Given the description of an element on the screen output the (x, y) to click on. 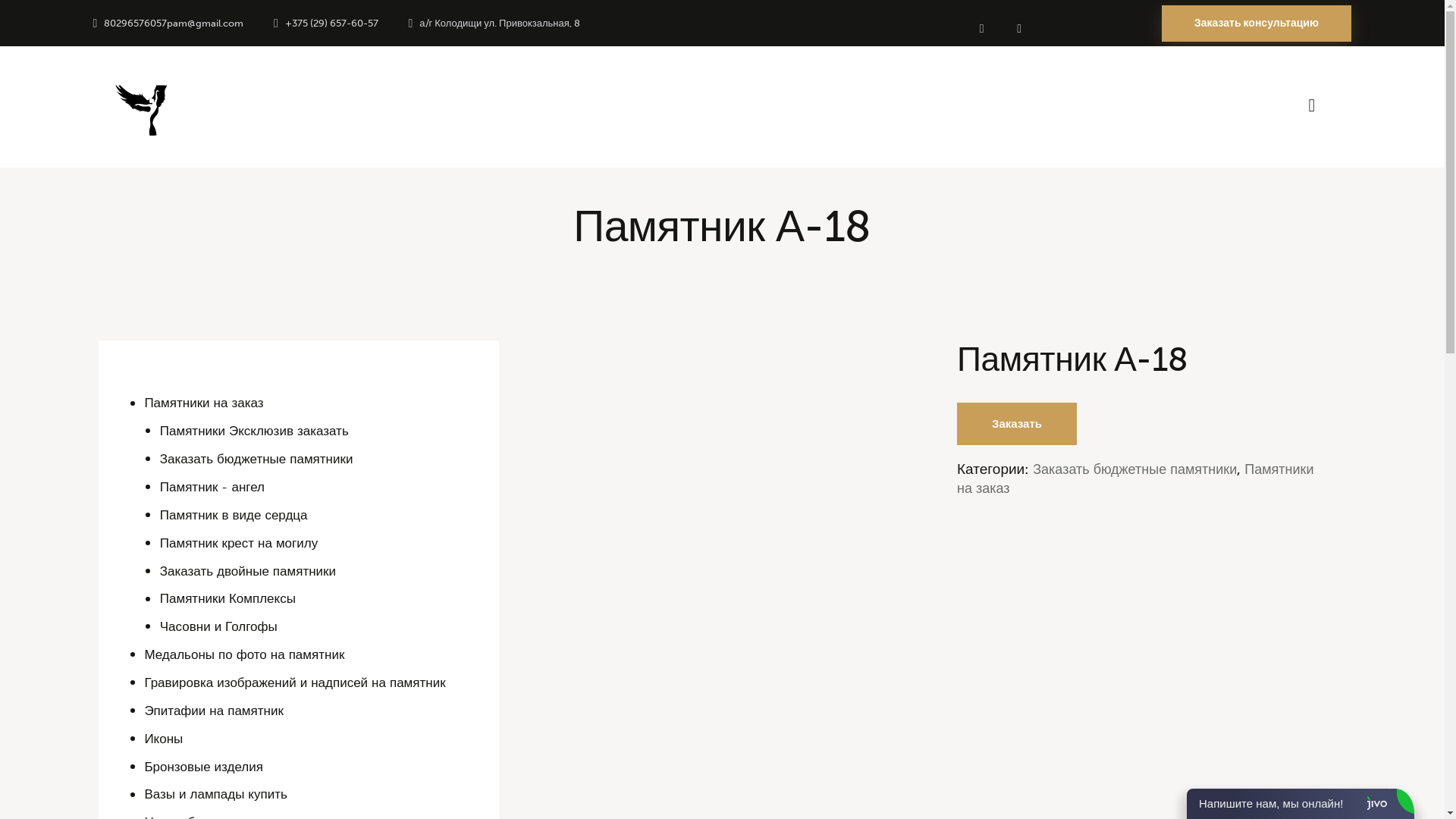
80296576057pam@gmail.com Element type: text (167, 22)
+375 (29) 657-60-57 Element type: text (325, 22)
